Given the description of an element on the screen output the (x, y) to click on. 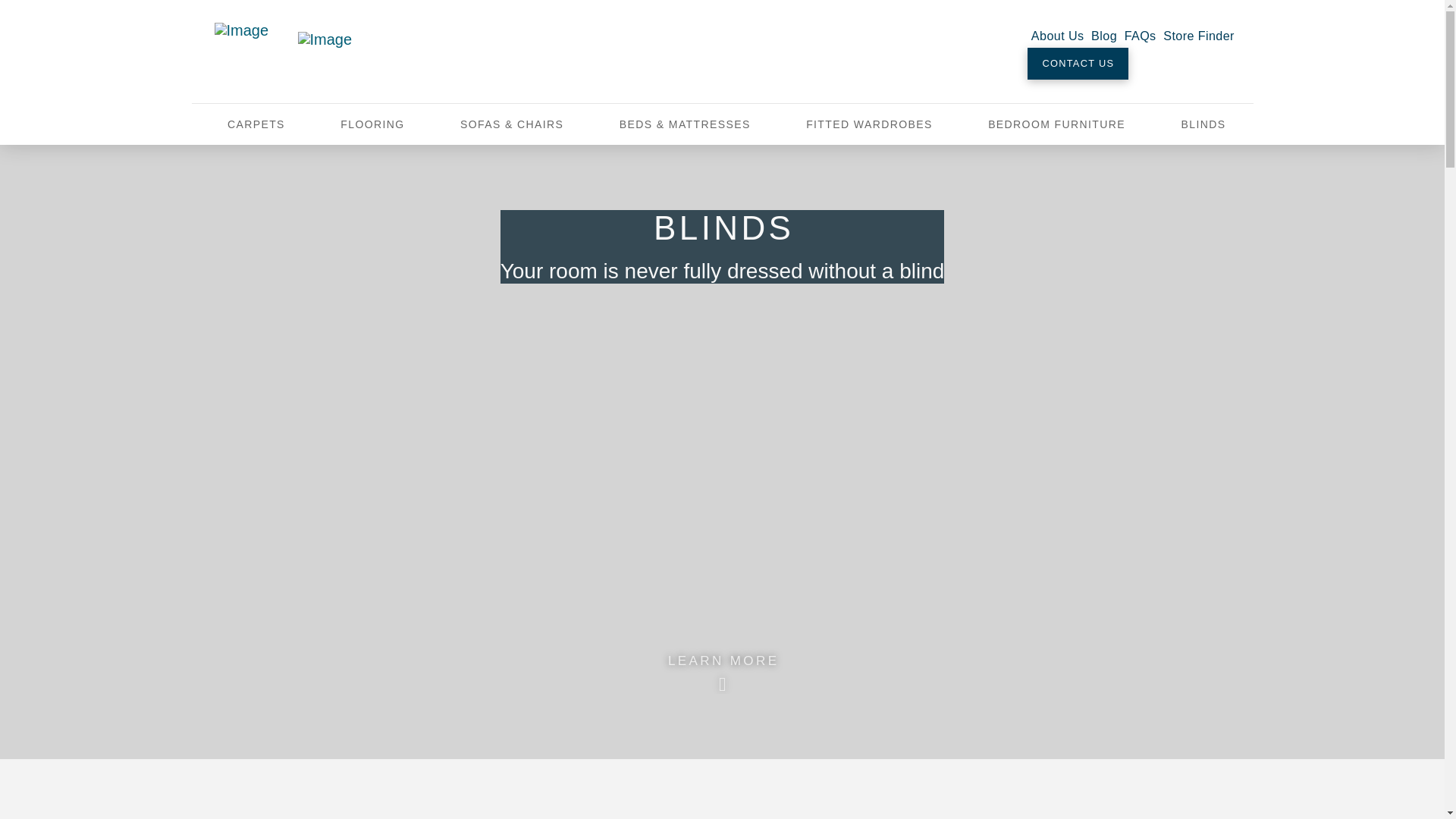
LEARN MORE (721, 667)
BEDROOM FURNITURE (1056, 124)
FAQs (1140, 35)
About Us (1057, 35)
BLINDS (1203, 124)
FITTED WARDROBES (868, 124)
CONTACT US (1077, 63)
Blog (1104, 35)
CARPETS (255, 124)
FLOORING (371, 124)
